Given the description of an element on the screen output the (x, y) to click on. 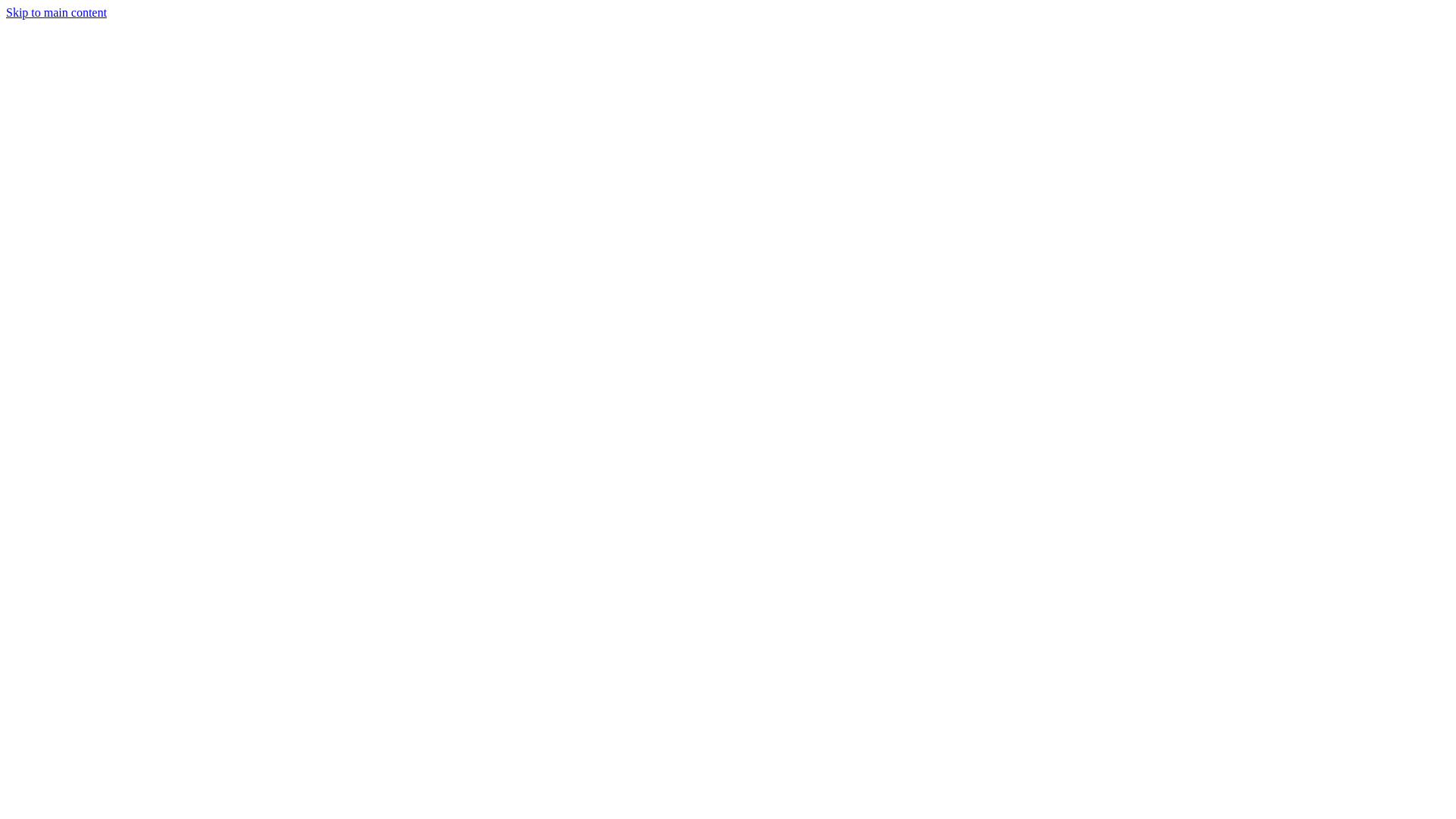
Skip to main content Element type: text (56, 12)
